Given the description of an element on the screen output the (x, y) to click on. 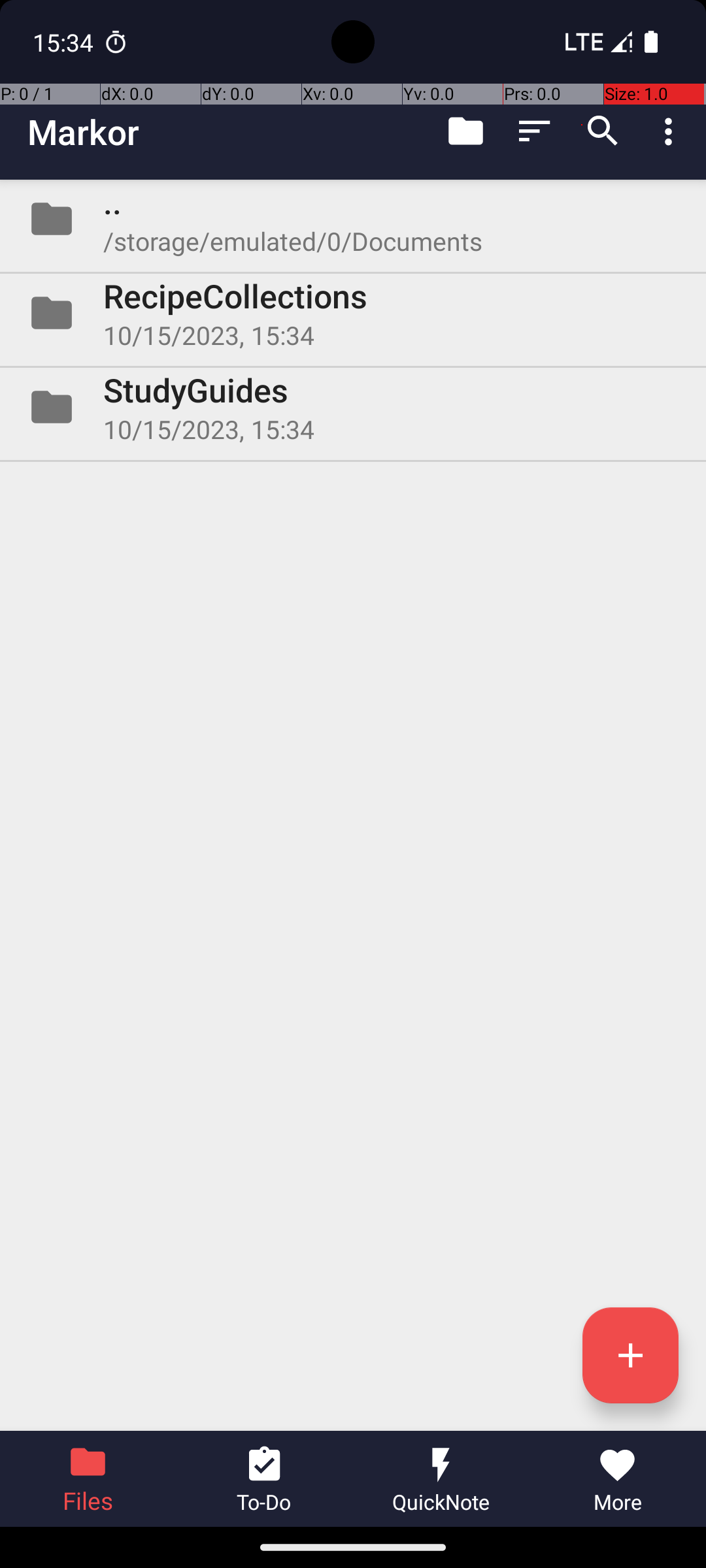
Folder RecipeCollections  Element type: android.widget.LinearLayout (353, 312)
Folder StudyGuides  Element type: android.widget.LinearLayout (353, 406)
